Given the description of an element on the screen output the (x, y) to click on. 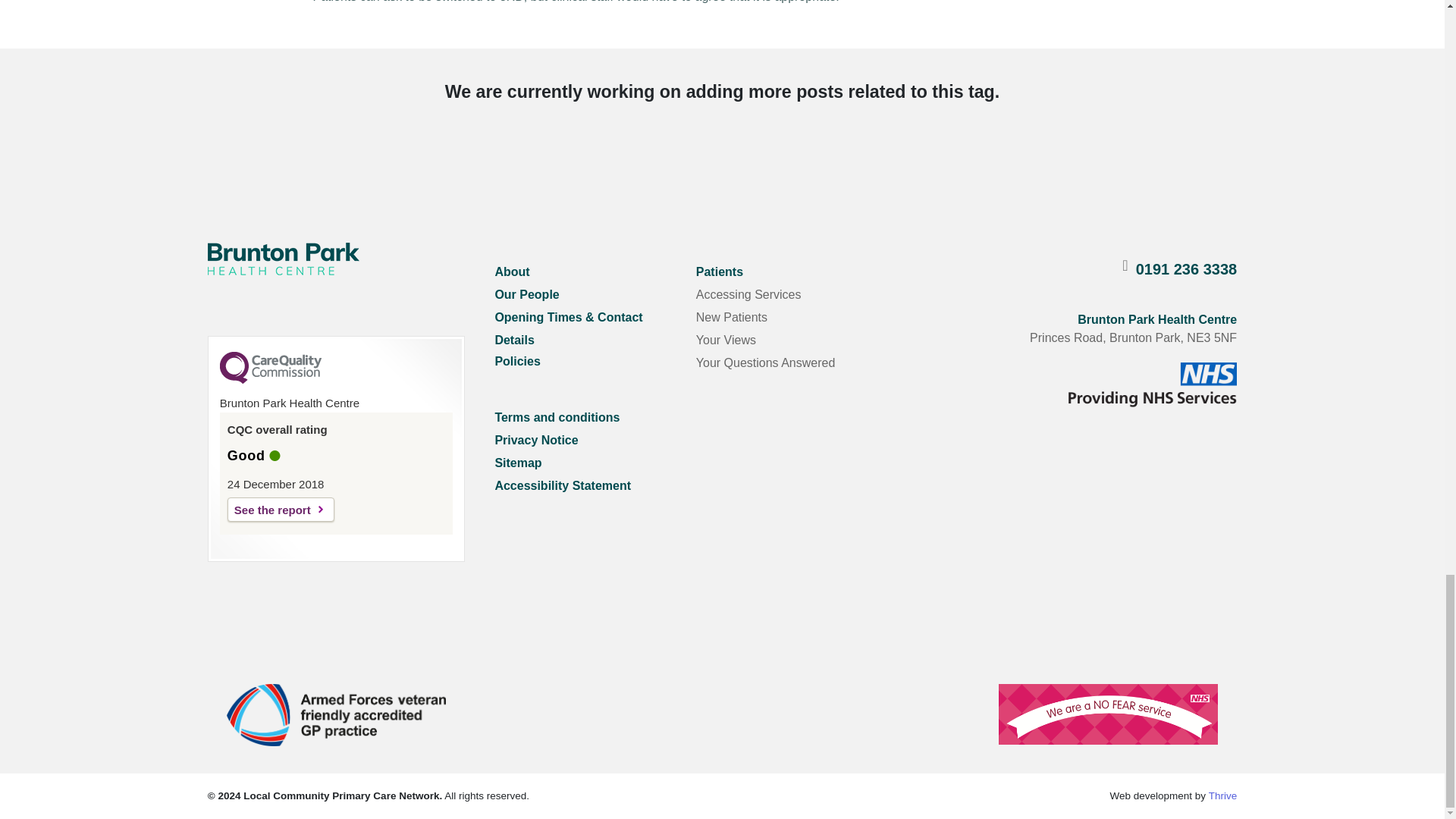
Call 0191 236 3338 (1185, 268)
Brunton Park Health Centre (283, 258)
CQC Logo (270, 379)
See the report (280, 509)
